Given the description of an element on the screen output the (x, y) to click on. 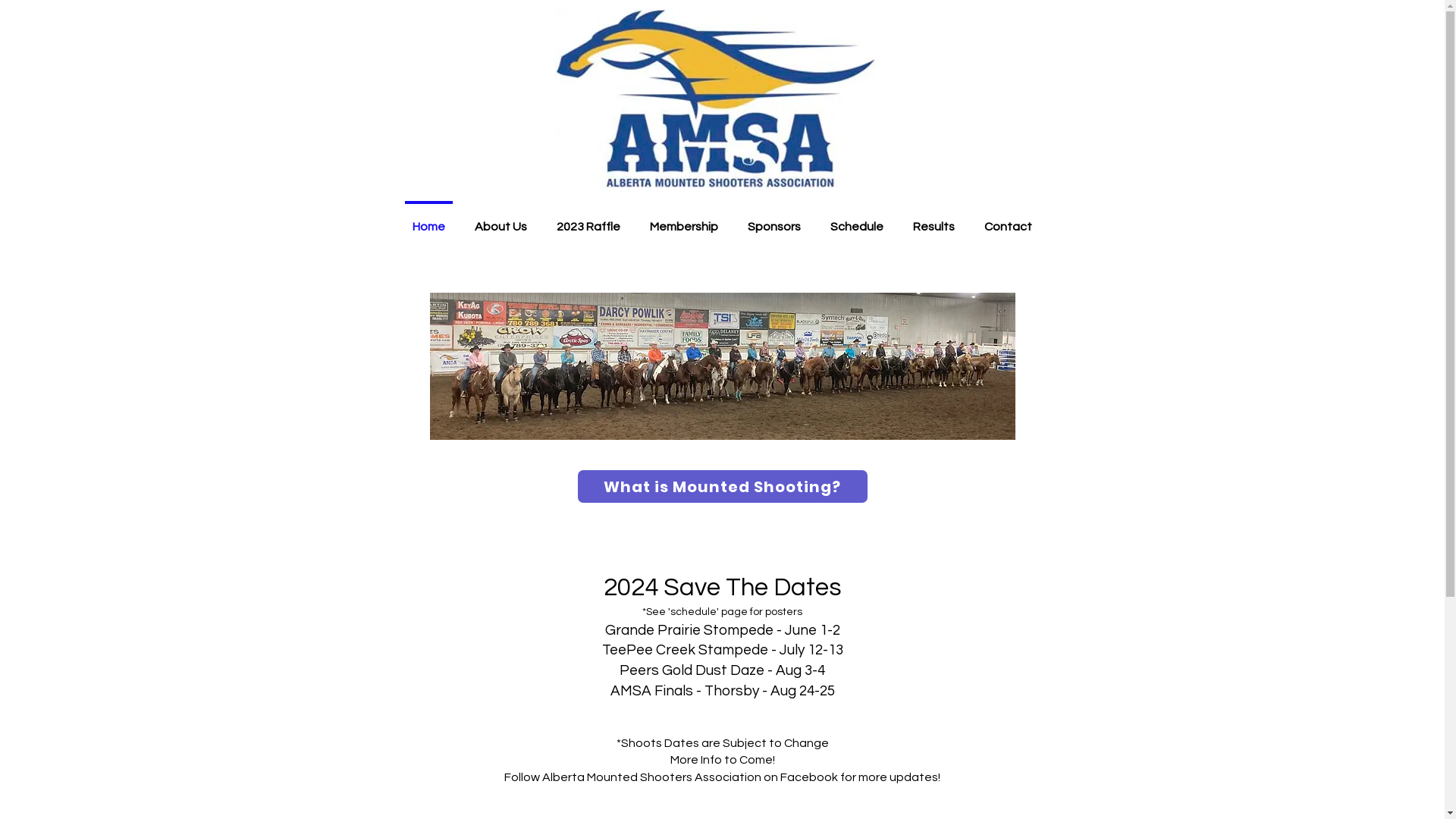
amsalogo.jpg Element type: hover (715, 97)
Home Element type: text (428, 219)
About Us Element type: text (500, 219)
Sponsors Element type: text (773, 219)
What is Mounted Shooting? Element type: text (722, 486)
Schedule Element type: text (856, 219)
2023 Raffle Element type: text (587, 219)
Contact Element type: text (1007, 219)
Results Element type: text (933, 219)
Membership Element type: text (684, 219)
